Given the description of an element on the screen output the (x, y) to click on. 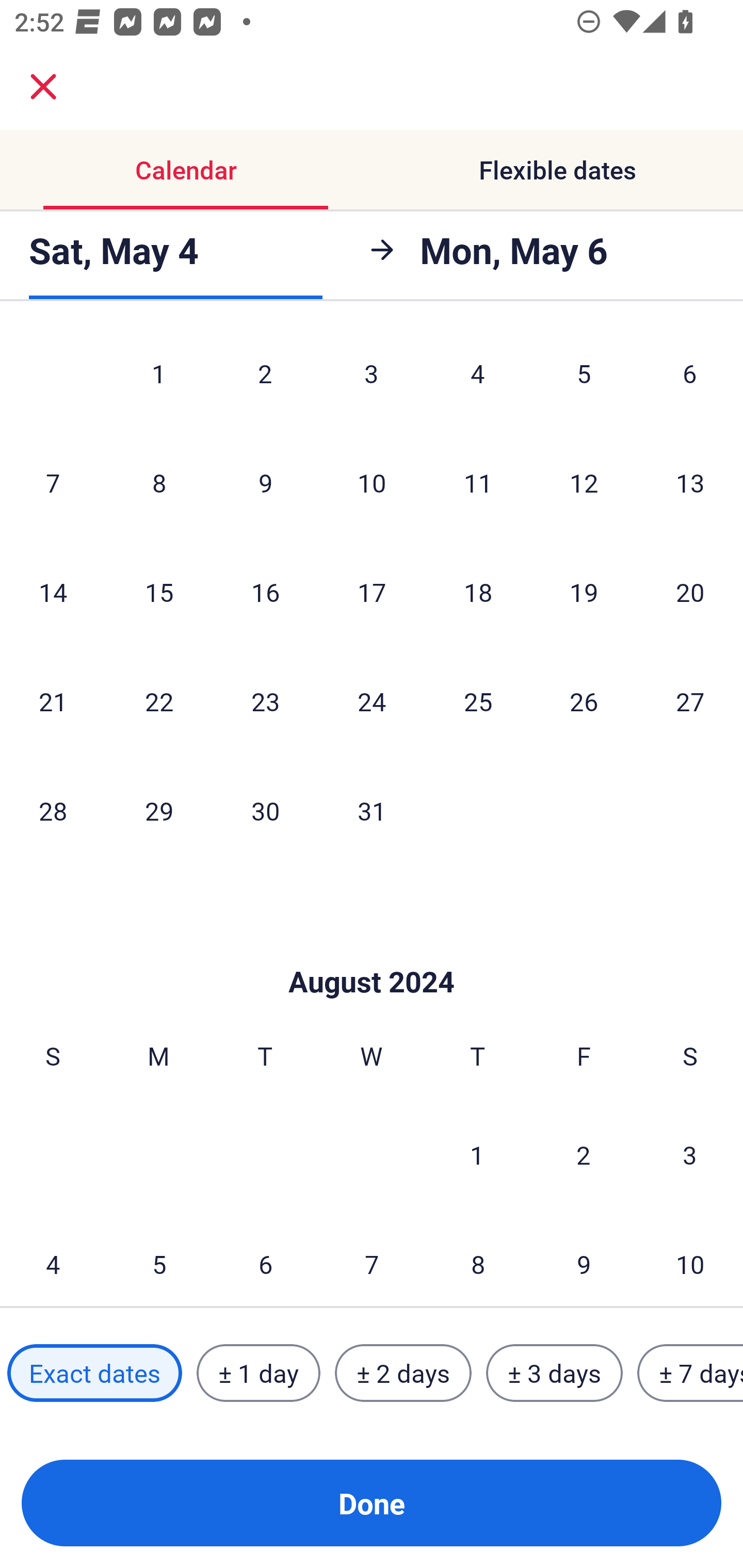
close. (43, 86)
Flexible dates (557, 170)
1 Monday, July 1, 2024 (158, 378)
2 Tuesday, July 2, 2024 (264, 378)
3 Wednesday, July 3, 2024 (371, 378)
4 Thursday, July 4, 2024 (477, 378)
5 Friday, July 5, 2024 (583, 378)
6 Saturday, July 6, 2024 (689, 378)
7 Sunday, July 7, 2024 (53, 481)
8 Monday, July 8, 2024 (159, 481)
9 Tuesday, July 9, 2024 (265, 481)
10 Wednesday, July 10, 2024 (371, 481)
11 Thursday, July 11, 2024 (477, 481)
12 Friday, July 12, 2024 (584, 481)
13 Saturday, July 13, 2024 (690, 481)
14 Sunday, July 14, 2024 (53, 591)
15 Monday, July 15, 2024 (159, 591)
16 Tuesday, July 16, 2024 (265, 591)
17 Wednesday, July 17, 2024 (371, 591)
18 Thursday, July 18, 2024 (477, 591)
19 Friday, July 19, 2024 (584, 591)
20 Saturday, July 20, 2024 (690, 591)
21 Sunday, July 21, 2024 (53, 700)
22 Monday, July 22, 2024 (159, 700)
23 Tuesday, July 23, 2024 (265, 700)
24 Wednesday, July 24, 2024 (371, 700)
25 Thursday, July 25, 2024 (477, 700)
26 Friday, July 26, 2024 (584, 700)
27 Saturday, July 27, 2024 (690, 700)
28 Sunday, July 28, 2024 (53, 810)
29 Monday, July 29, 2024 (159, 810)
30 Tuesday, July 30, 2024 (265, 810)
31 Wednesday, July 31, 2024 (371, 810)
Skip to Done (371, 950)
1 Thursday, August 1, 2024 (477, 1154)
2 Friday, August 2, 2024 (583, 1154)
3 Saturday, August 3, 2024 (689, 1154)
4 Sunday, August 4, 2024 (53, 1258)
5 Monday, August 5, 2024 (159, 1258)
6 Tuesday, August 6, 2024 (265, 1258)
7 Wednesday, August 7, 2024 (371, 1258)
8 Thursday, August 8, 2024 (477, 1258)
9 Friday, August 9, 2024 (584, 1258)
10 Saturday, August 10, 2024 (690, 1258)
Exact dates (94, 1372)
± 1 day (258, 1372)
± 2 days (403, 1372)
± 3 days (553, 1372)
± 7 days (690, 1372)
Done (371, 1502)
